Given the description of an element on the screen output the (x, y) to click on. 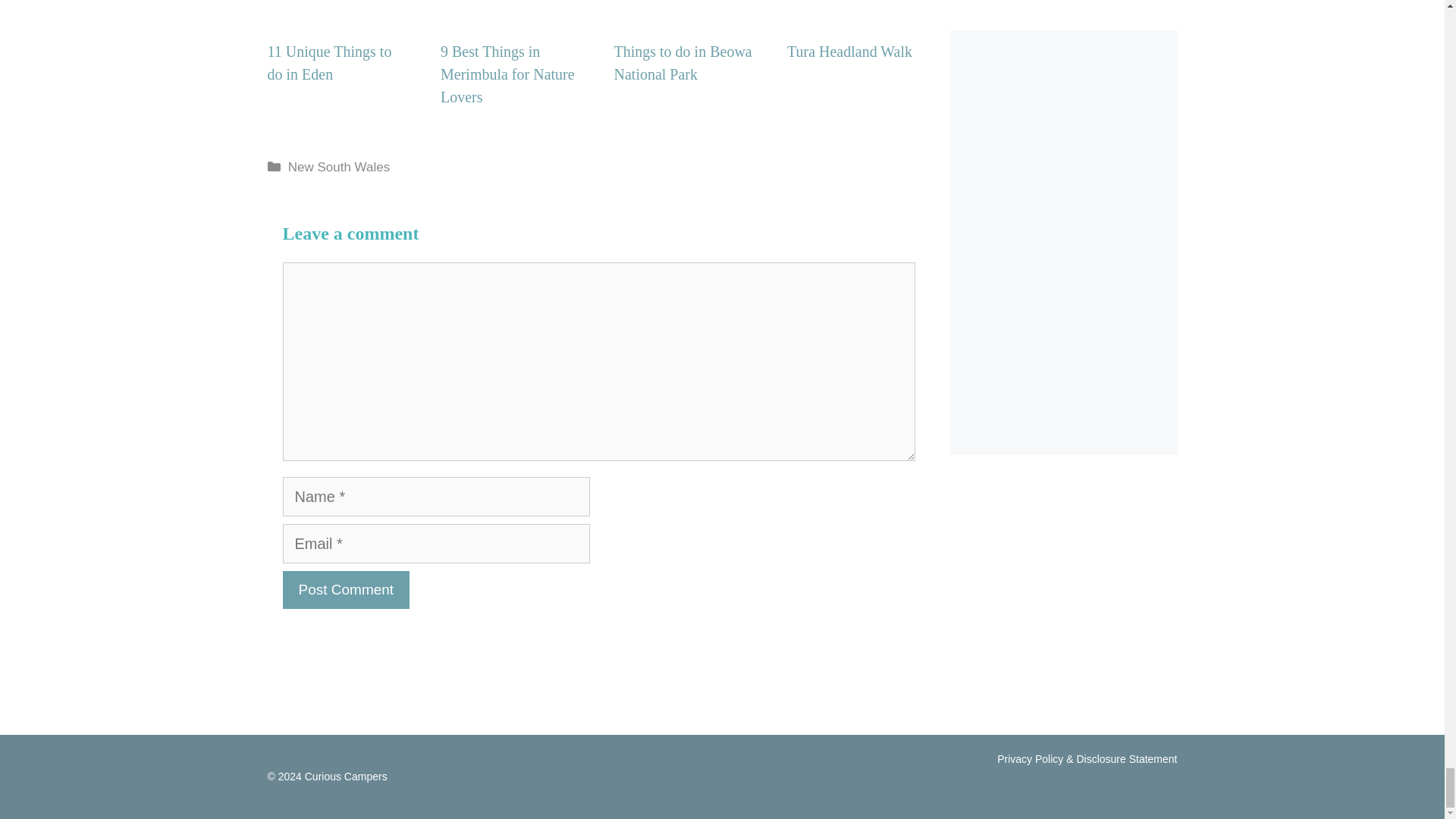
9 Best Things in Merimbula for Nature Lovers (512, 11)
Post Comment (345, 589)
Things to do in Beowa National Park (685, 11)
Tura Headland Walk (858, 11)
11 Unique Things to do in Eden (338, 11)
